Given the description of an element on the screen output the (x, y) to click on. 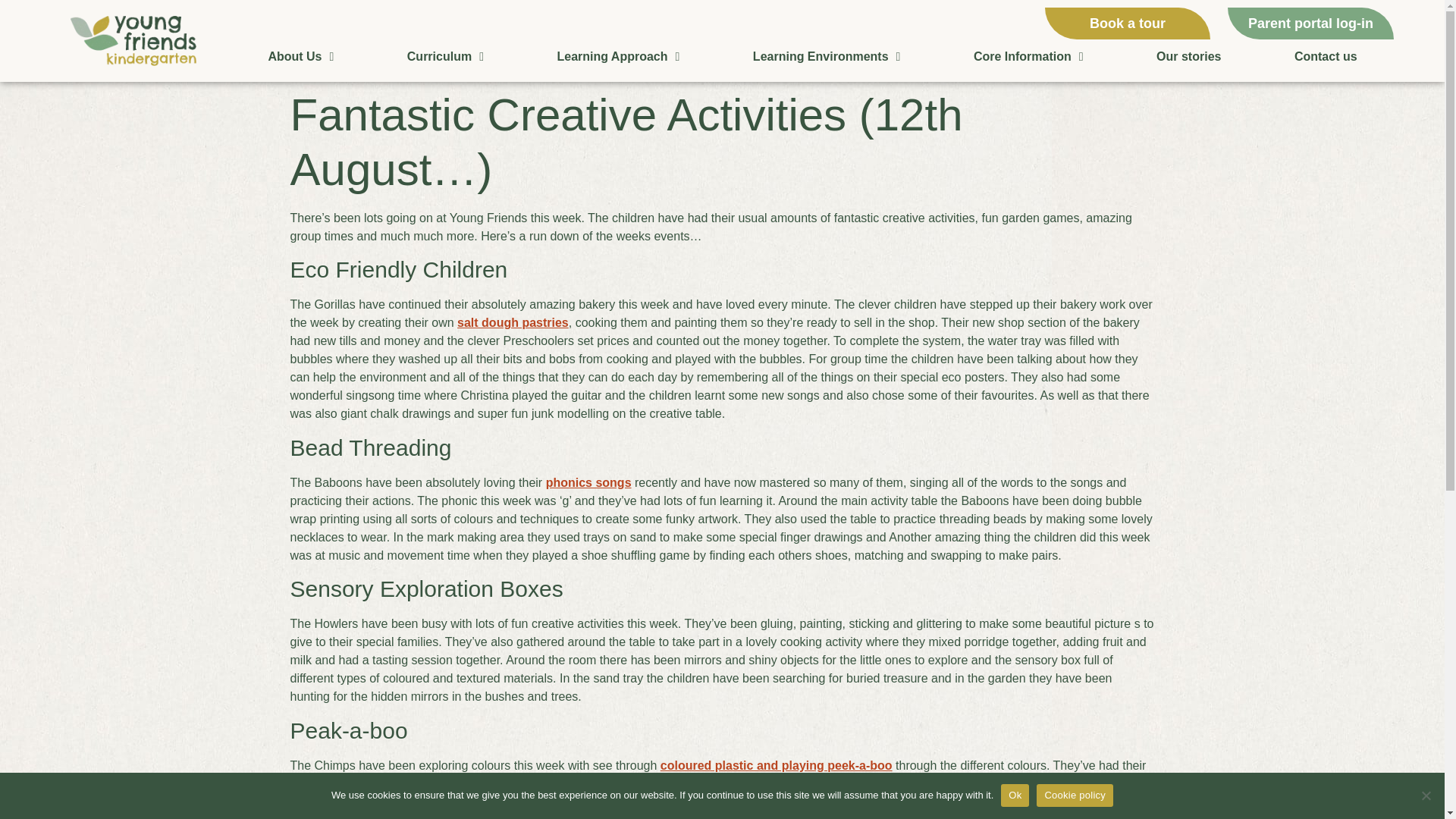
No (1425, 795)
Curriculum (446, 56)
Book a tour (1128, 23)
Learning Approach (617, 56)
Learning Environments (826, 56)
Parent portal log-in (1310, 23)
Core Information (1028, 56)
About Us (300, 56)
